Given the description of an element on the screen output the (x, y) to click on. 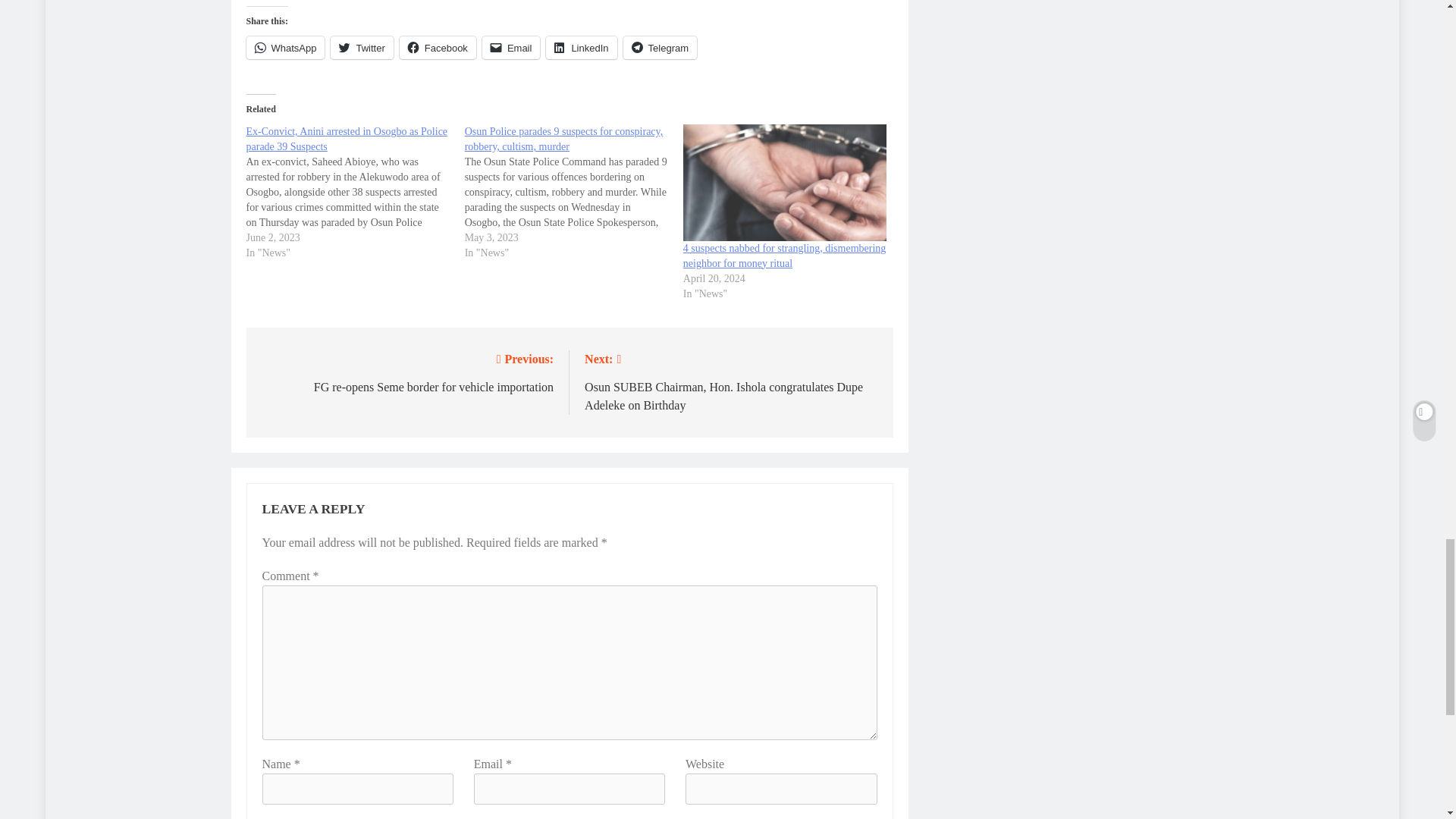
Telegram (660, 47)
Email (510, 47)
WhatsApp (285, 47)
LinkedIn (580, 47)
Facebook (437, 47)
Twitter (361, 47)
